Given the description of an element on the screen output the (x, y) to click on. 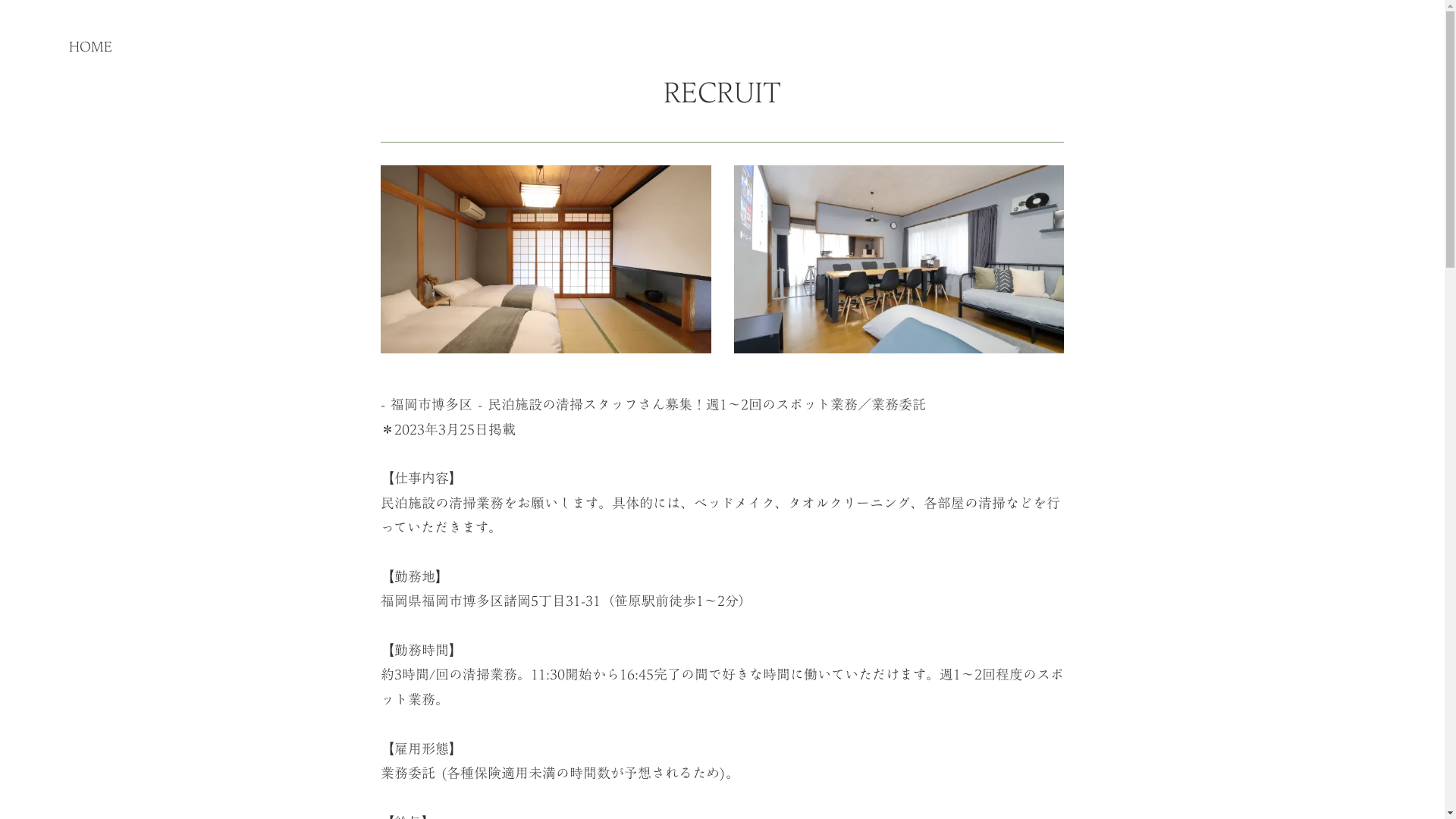
HOME Element type: text (90, 46)
